Given the description of an element on the screen output the (x, y) to click on. 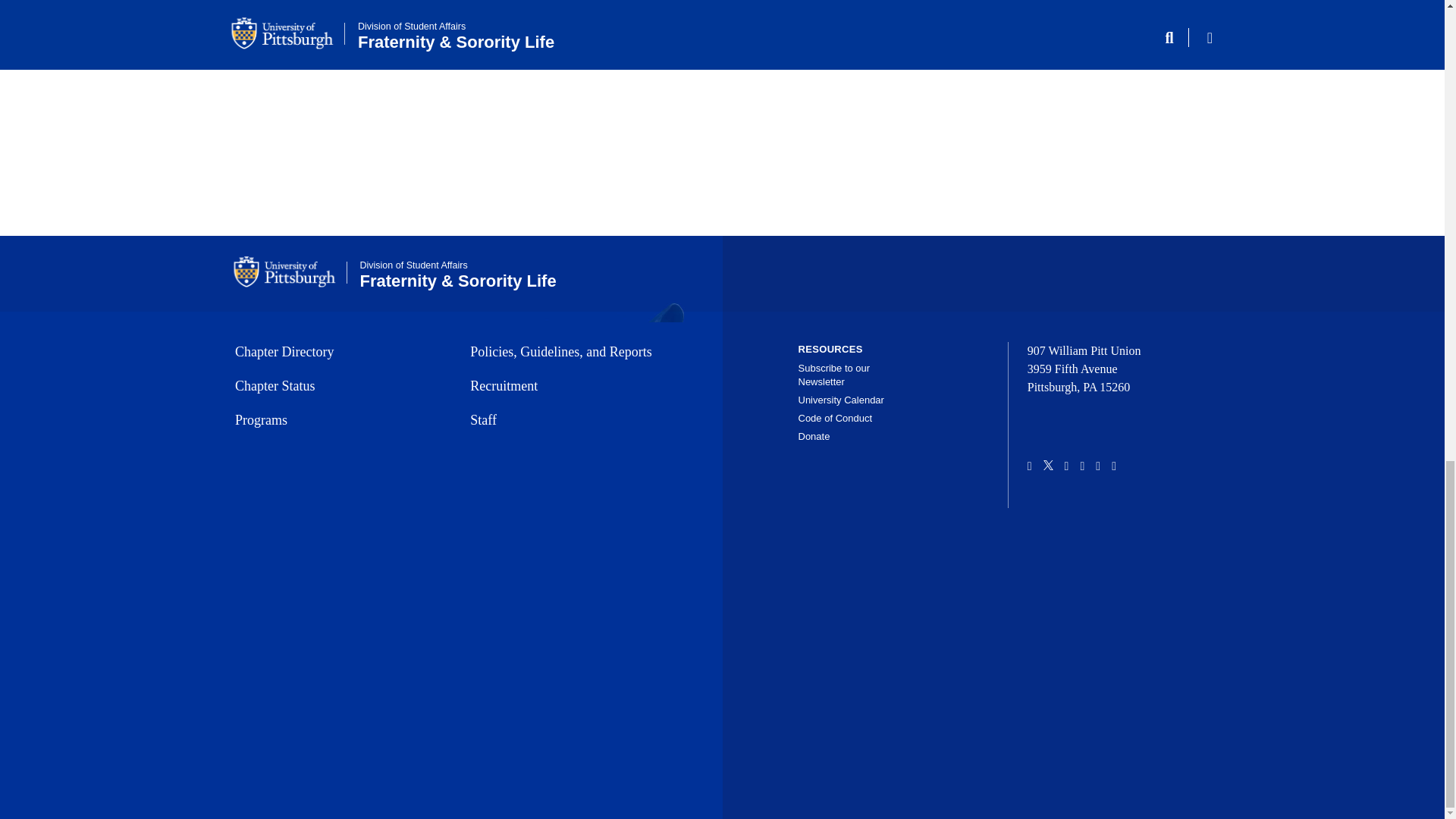
Staff (573, 420)
Recruitment (573, 385)
Policies, Guidelines, and Reports (573, 352)
Chapter Status (337, 385)
Code of Conduct (834, 418)
Chapter Directory (337, 352)
Programs (337, 420)
University Calendar (840, 399)
Pitt Home (289, 272)
Division of Student Affairs (413, 265)
